Given the description of an element on the screen output the (x, y) to click on. 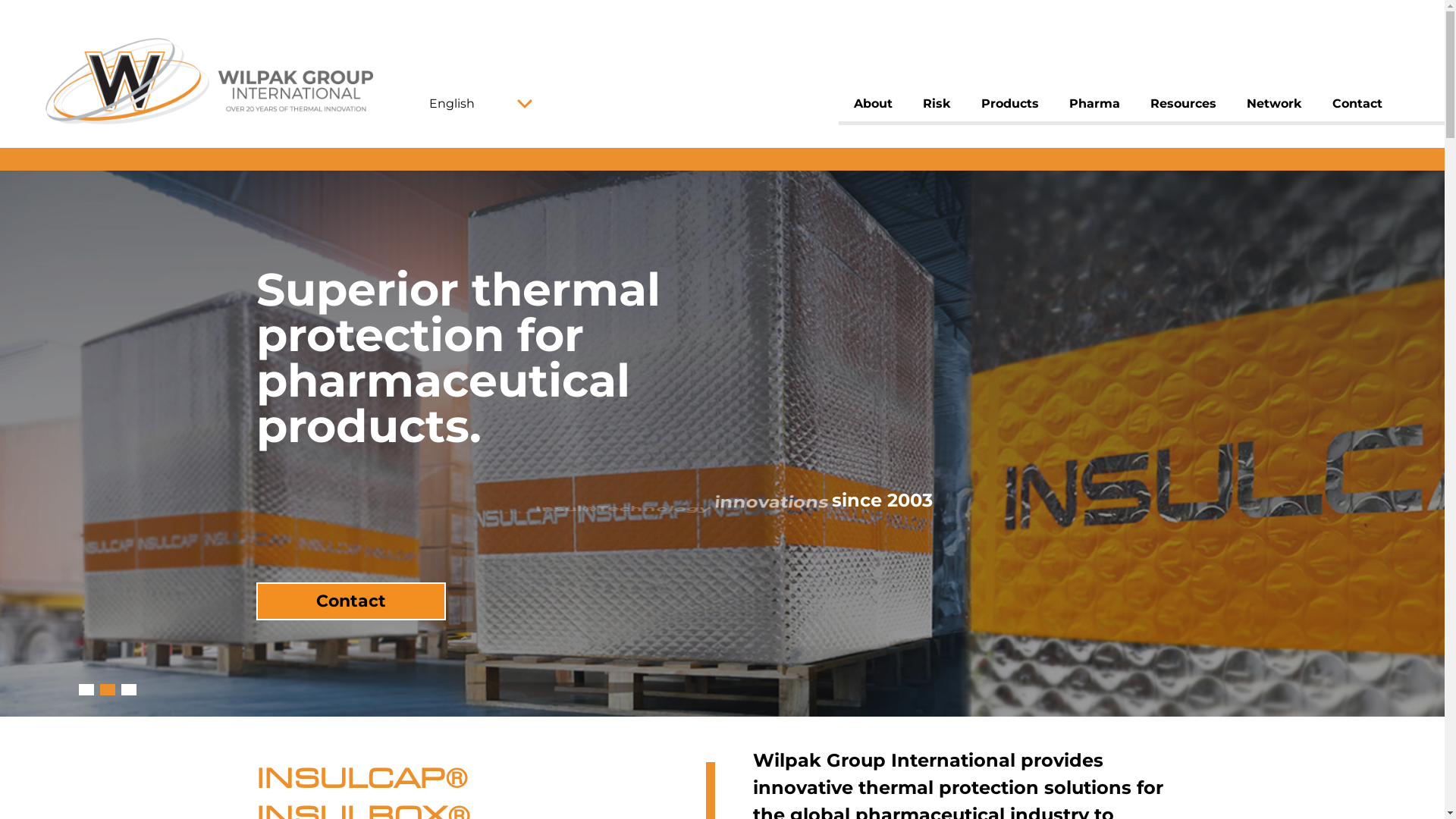
Pharma Element type: text (1094, 103)
Resources Element type: text (1183, 103)
About Element type: text (872, 103)
Risk Element type: text (936, 103)
Contact Element type: text (350, 630)
Network Element type: text (1274, 103)
Products Element type: text (1010, 103)
English Element type: text (478, 103)
Contact Element type: text (1357, 103)
